Given the description of an element on the screen output the (x, y) to click on. 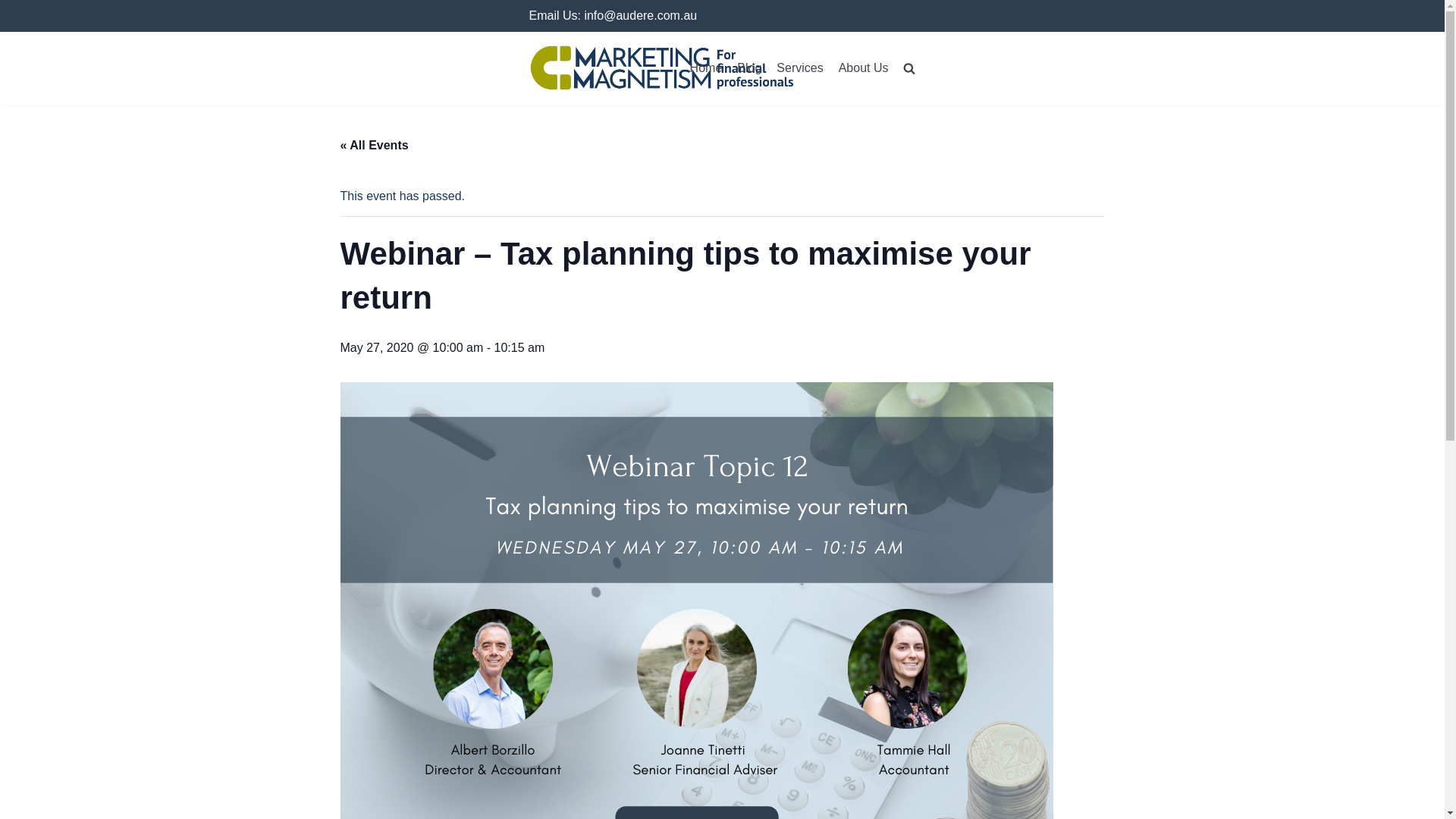
Services (799, 67)
Advice Firm (661, 68)
Blog (748, 67)
Skip to content (15, 7)
Home (706, 67)
About Us (863, 67)
